Given the description of an element on the screen output the (x, y) to click on. 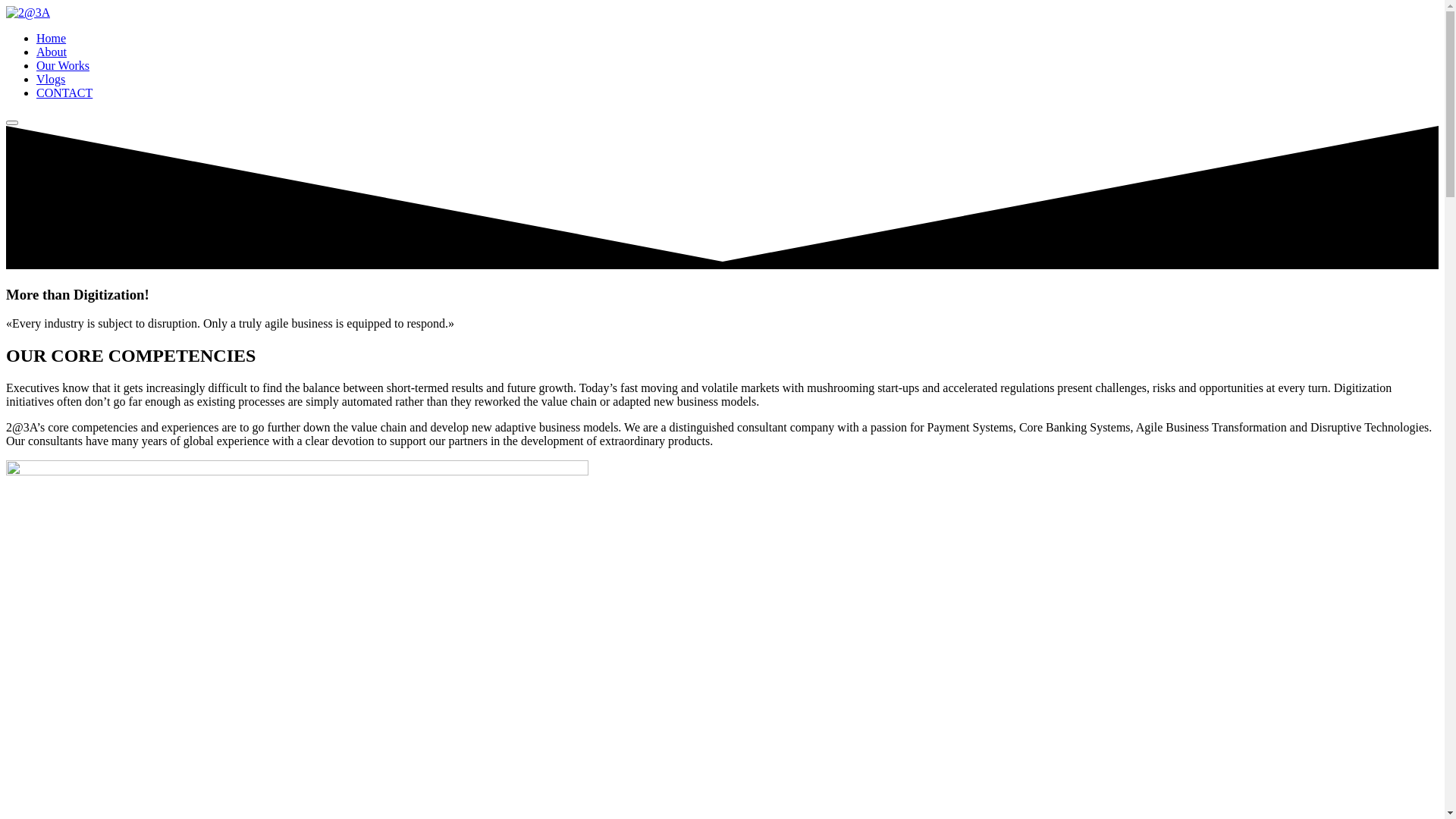
Home Element type: text (50, 37)
Our Works Element type: text (62, 65)
CONTACT Element type: text (64, 92)
About Element type: text (51, 51)
Main menu Element type: text (12, 122)
Vlogs Element type: text (50, 78)
2@3A Element type: hover (28, 12)
